Given the description of an element on the screen output the (x, y) to click on. 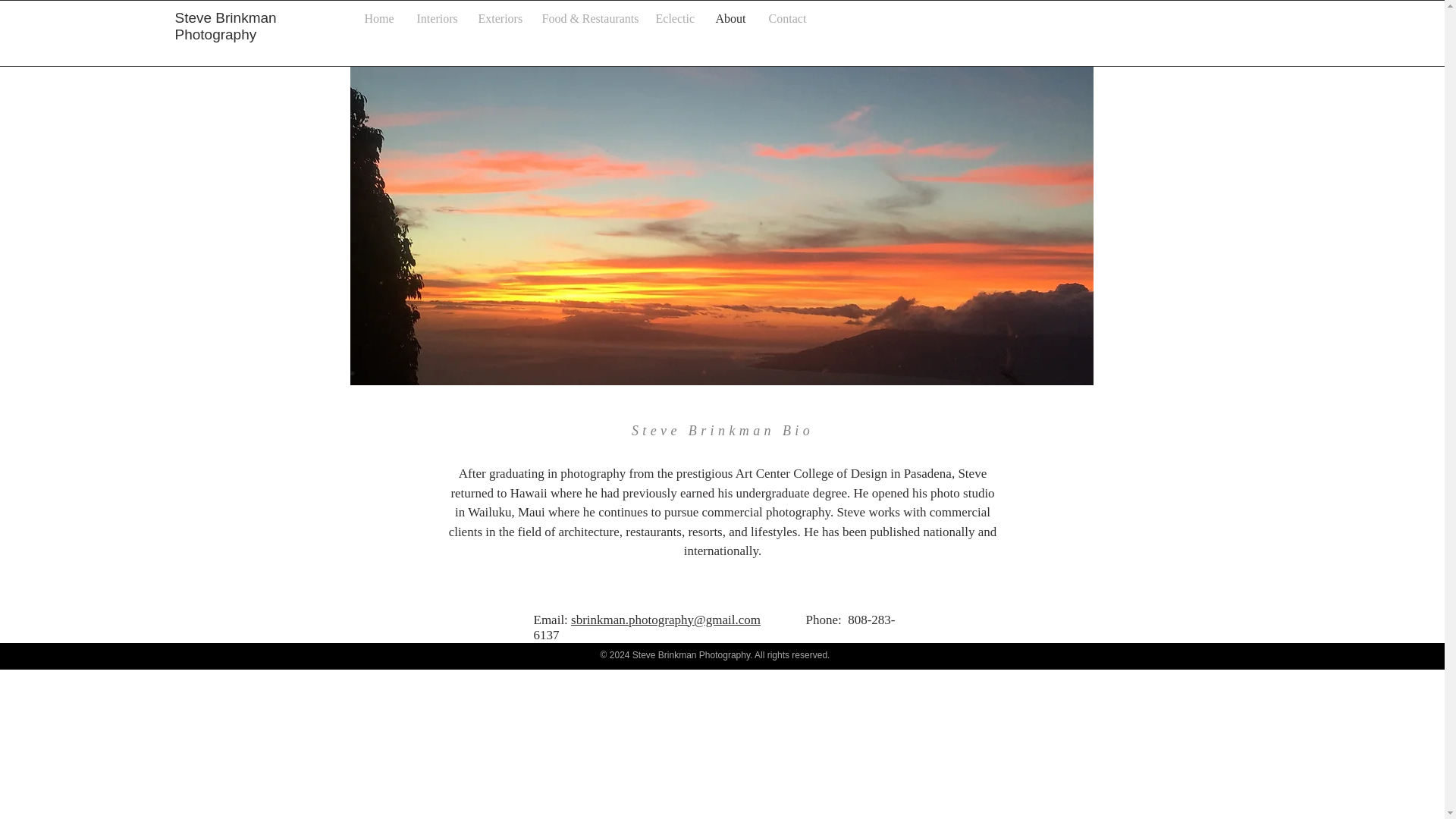
Interiors (434, 18)
About (730, 18)
Contact (786, 18)
Exteriors (499, 18)
Eclectic (674, 18)
Home (379, 18)
